Given the description of an element on the screen output the (x, y) to click on. 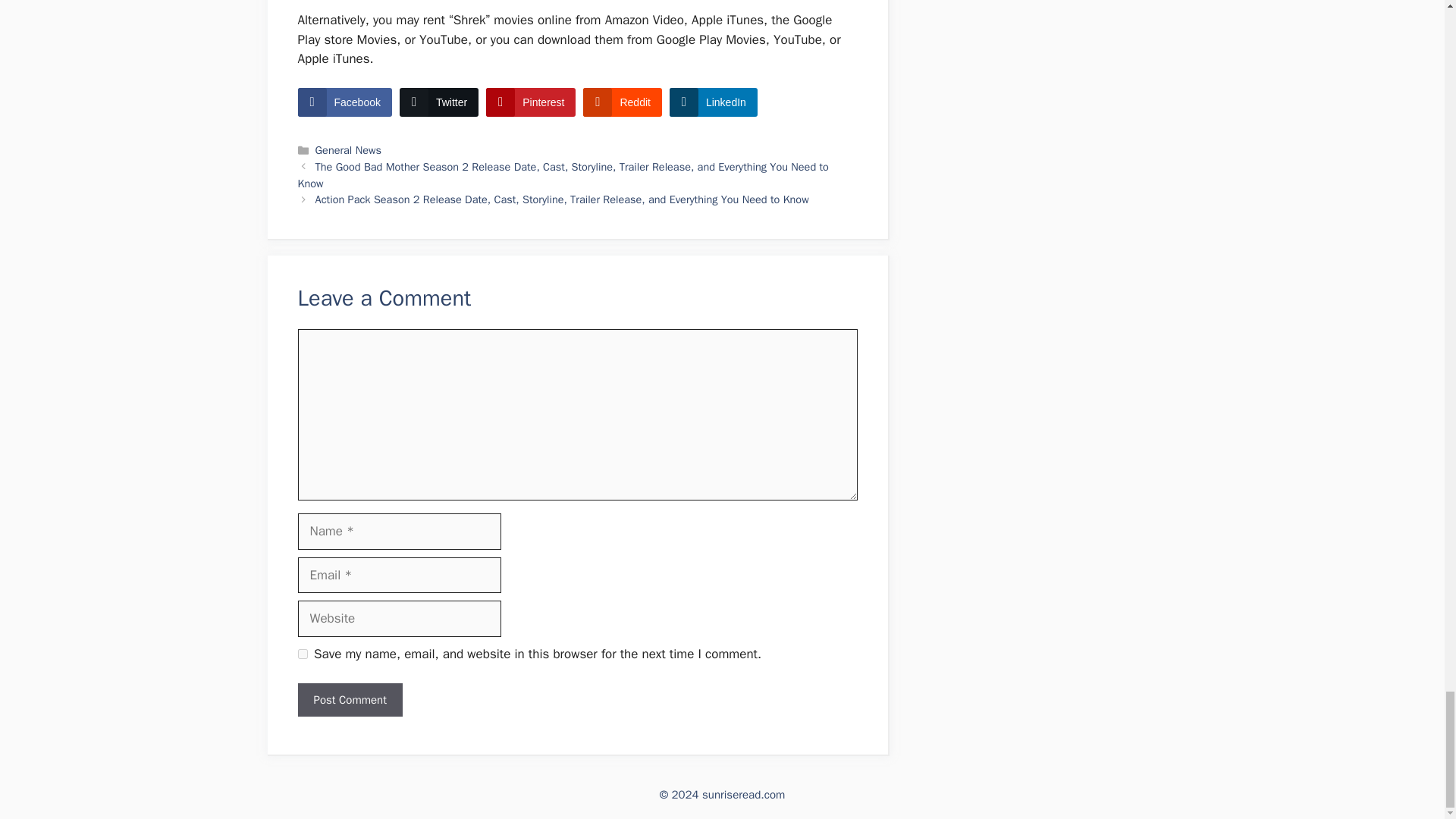
Post Comment (349, 700)
Twitter (438, 102)
General News (348, 150)
LinkedIn (713, 102)
Facebook (344, 102)
Post Comment (349, 700)
Pinterest (530, 102)
yes (302, 654)
Reddit (622, 102)
